Given the description of an element on the screen output the (x, y) to click on. 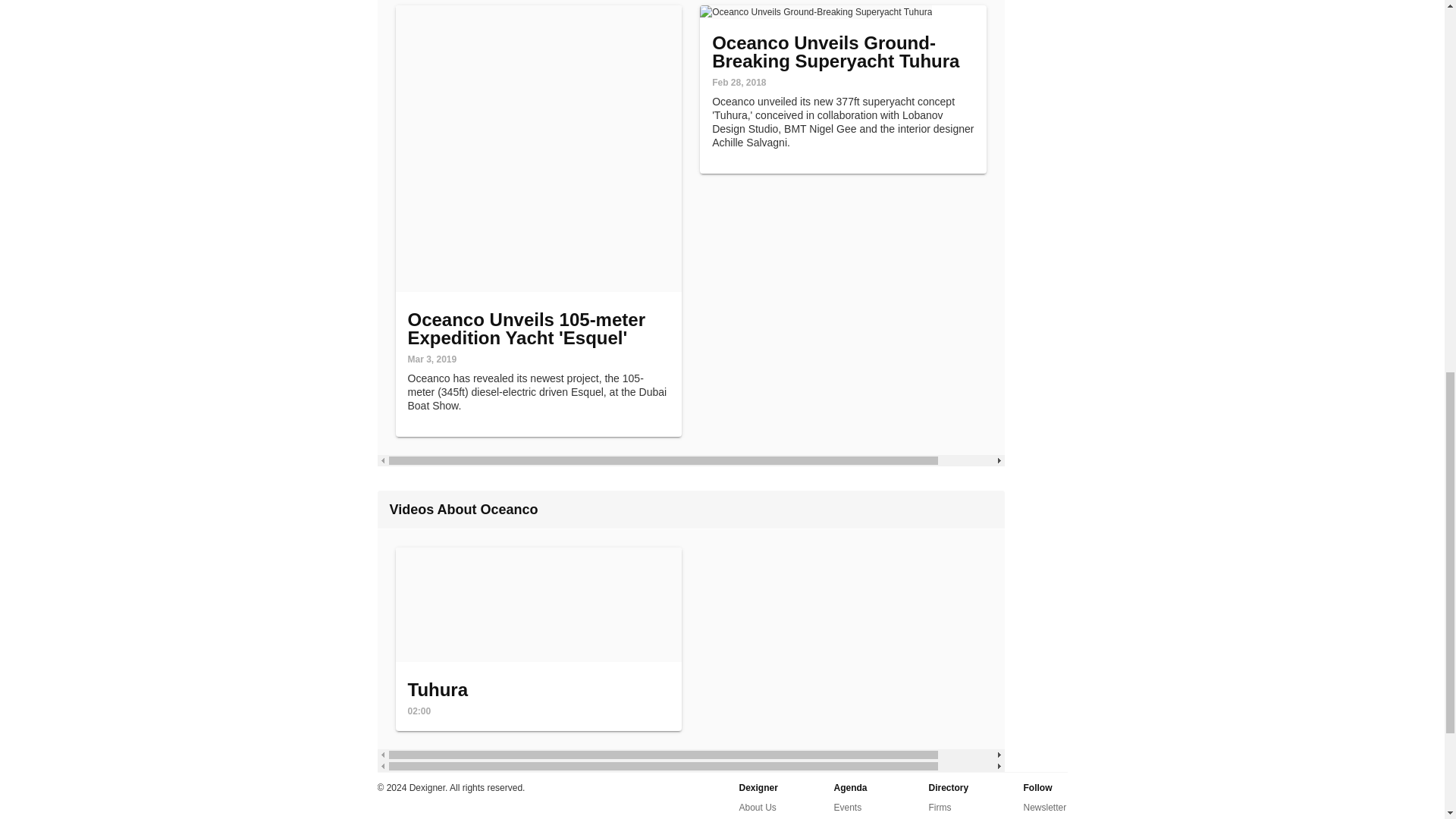
Advertise (539, 639)
Firms (860, 818)
About Us (939, 807)
Designers (757, 807)
Events (948, 818)
